Given the description of an element on the screen output the (x, y) to click on. 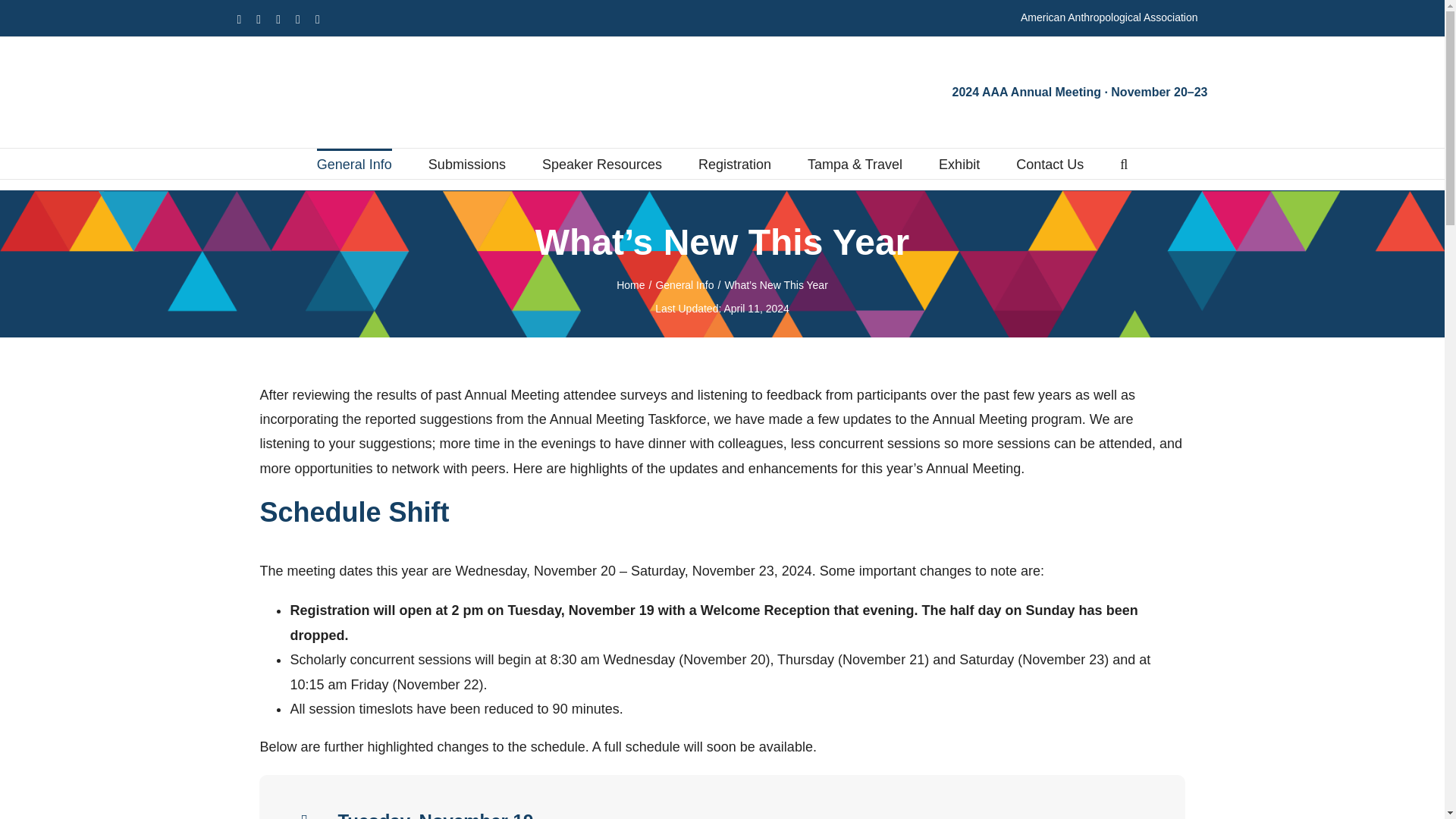
Registration (734, 163)
Speaker Resources (601, 163)
Submissions (466, 163)
American Anthropological Association (1108, 18)
General Info (354, 163)
